Given the description of an element on the screen output the (x, y) to click on. 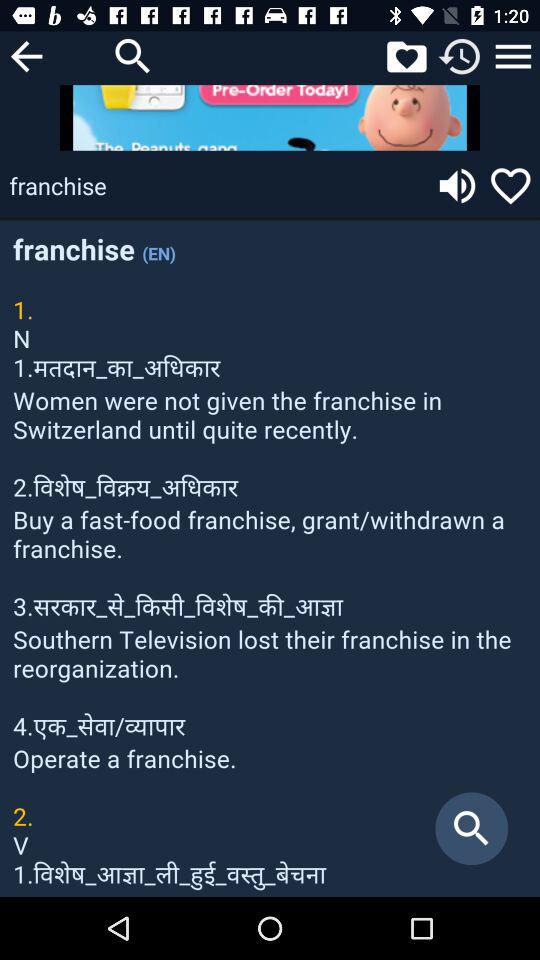
advertisement we close it or view it (270, 117)
